Given the description of an element on the screen output the (x, y) to click on. 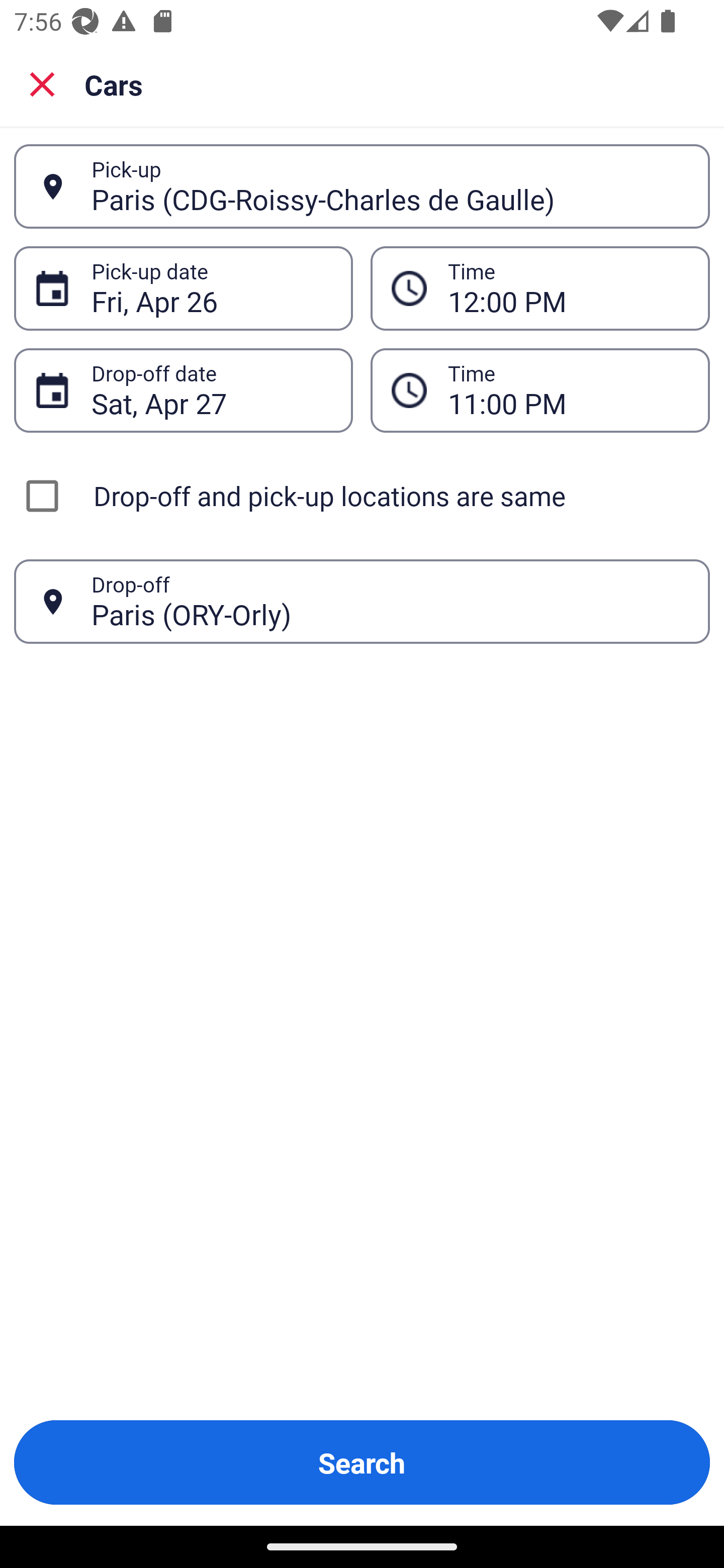
Close search screen (41, 83)
Paris (CDG-Roissy-Charles de Gaulle) Pick-up (361, 186)
Paris (CDG-Roissy-Charles de Gaulle) (389, 186)
Fri, Apr 26 Pick-up date (183, 288)
12:00 PM (540, 288)
Fri, Apr 26 (211, 288)
12:00 PM (568, 288)
Sat, Apr 27 Drop-off date (183, 390)
11:00 PM (540, 390)
Sat, Apr 27 (211, 390)
11:00 PM (568, 390)
Drop-off and pick-up locations are same (361, 495)
Paris (ORY-Orly) Drop-off (361, 601)
Paris (ORY-Orly) (389, 601)
Search Button Search (361, 1462)
